Given the description of an element on the screen output the (x, y) to click on. 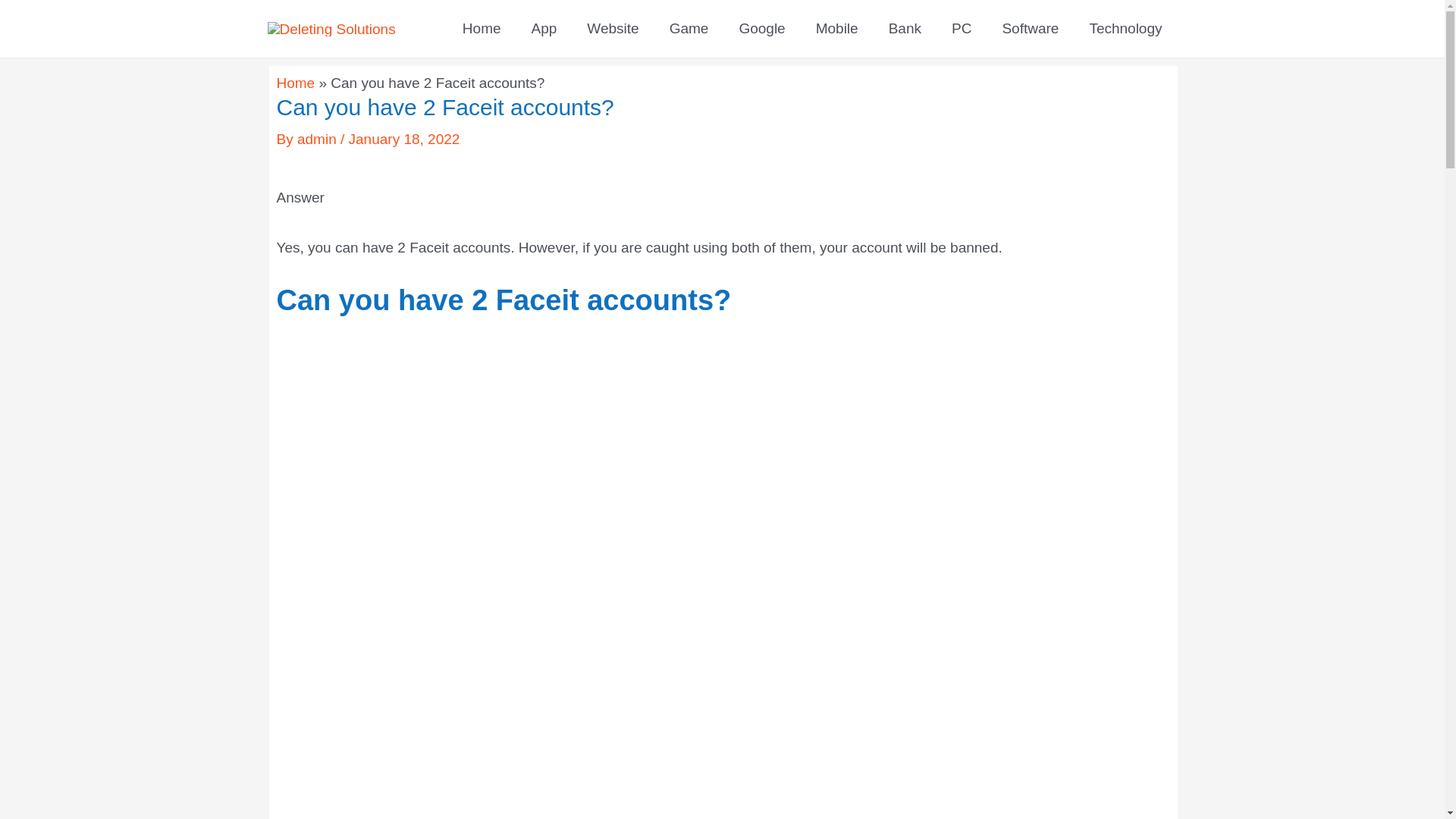
Website (612, 28)
admin (318, 139)
View all posts by admin (318, 139)
App (544, 28)
Google (761, 28)
Technology (1125, 28)
Software (1030, 28)
Mobile (836, 28)
Home (481, 28)
Bank (904, 28)
Game (688, 28)
Home (295, 82)
